Given the description of an element on the screen output the (x, y) to click on. 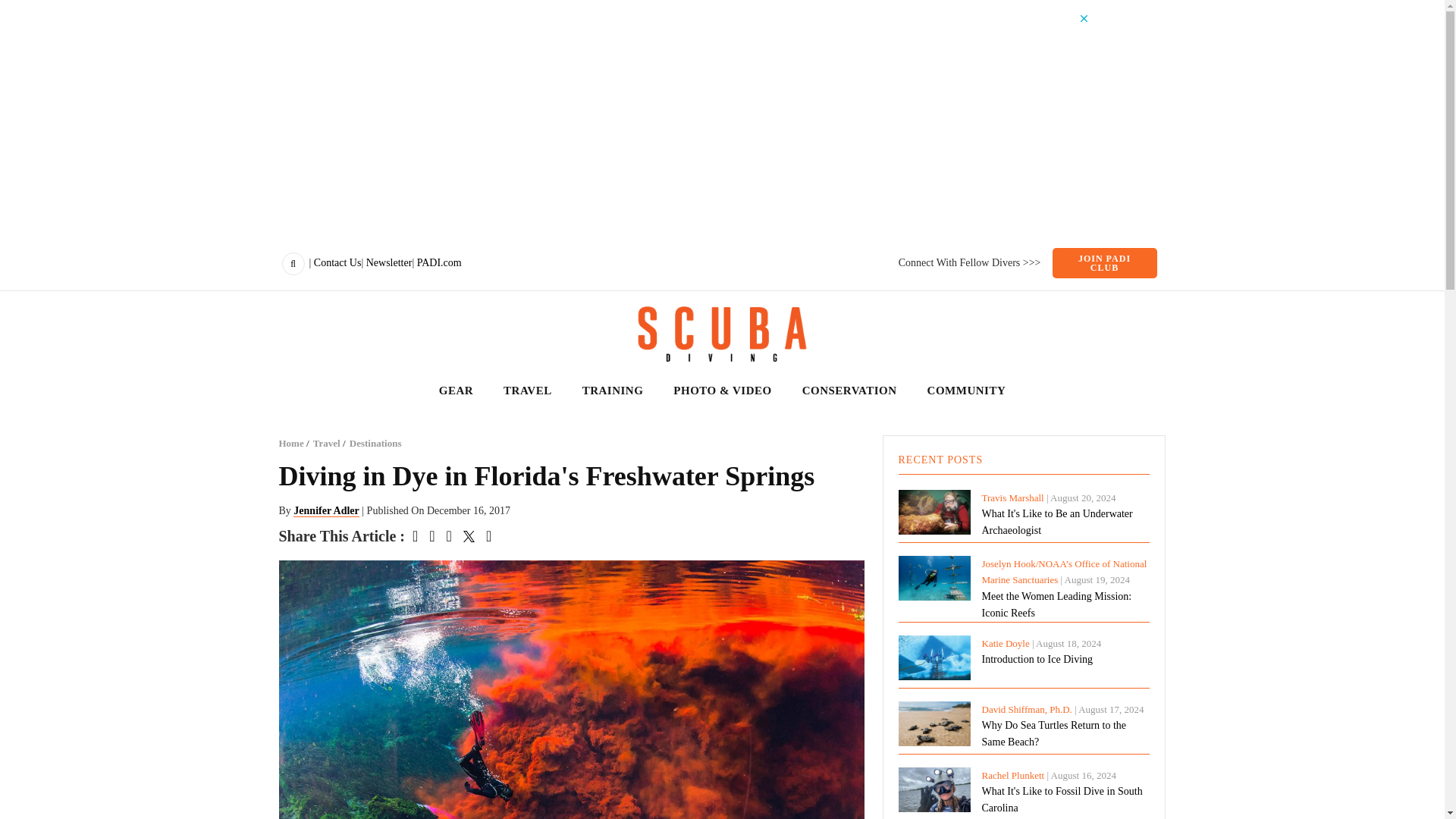
TRAVEL (527, 391)
PADI.com (438, 262)
Home (291, 442)
Home (722, 333)
Contact Us (337, 262)
Jennifer Adler (326, 510)
COMMUNITY (966, 391)
Destinations (375, 442)
Travel (326, 442)
Newsletter (389, 262)
